Given the description of an element on the screen output the (x, y) to click on. 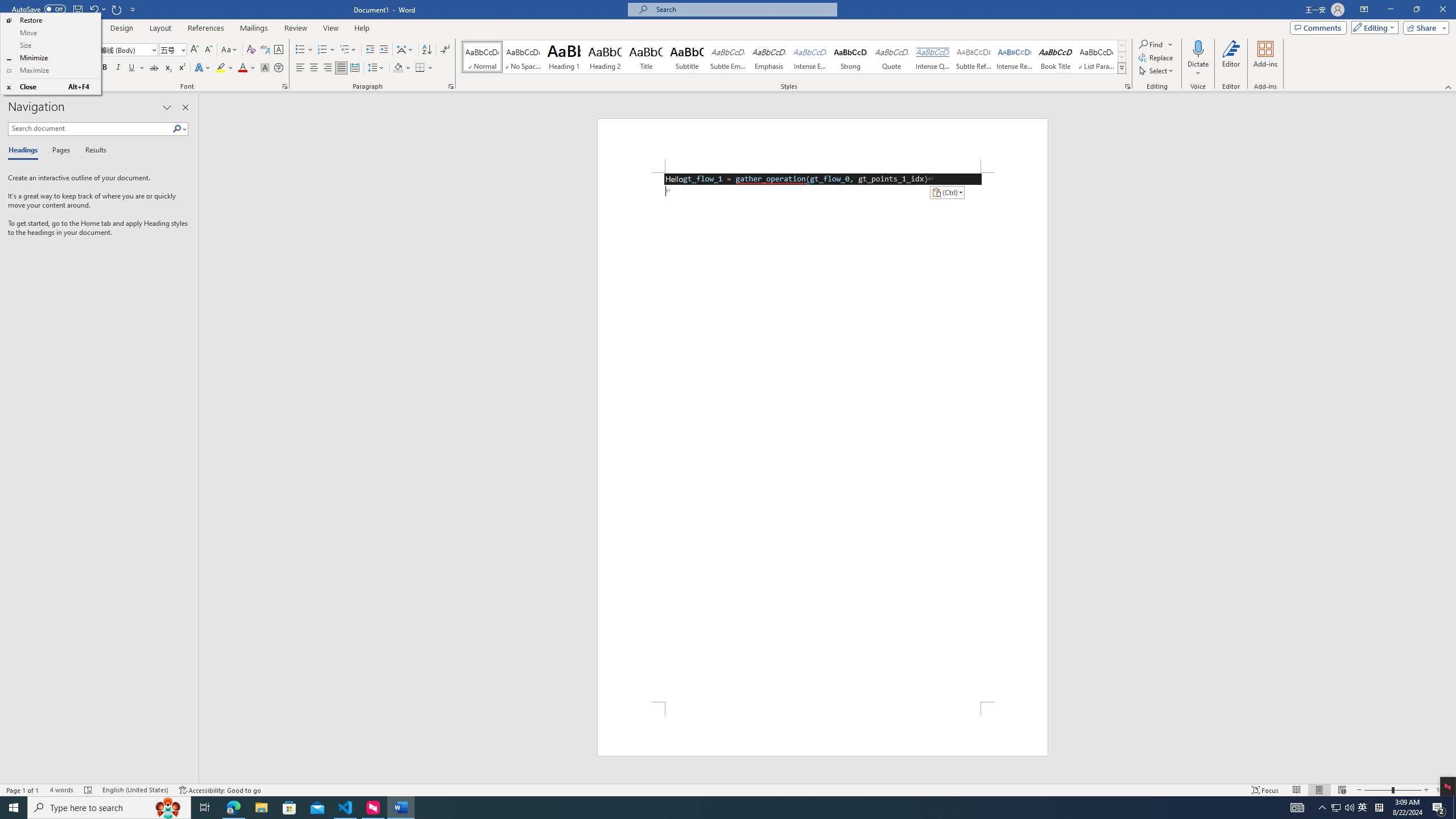
Intense Quote (932, 56)
Intense Emphasis (809, 56)
Page 1 content (822, 436)
Zoom 100% (1443, 790)
